Given the description of an element on the screen output the (x, y) to click on. 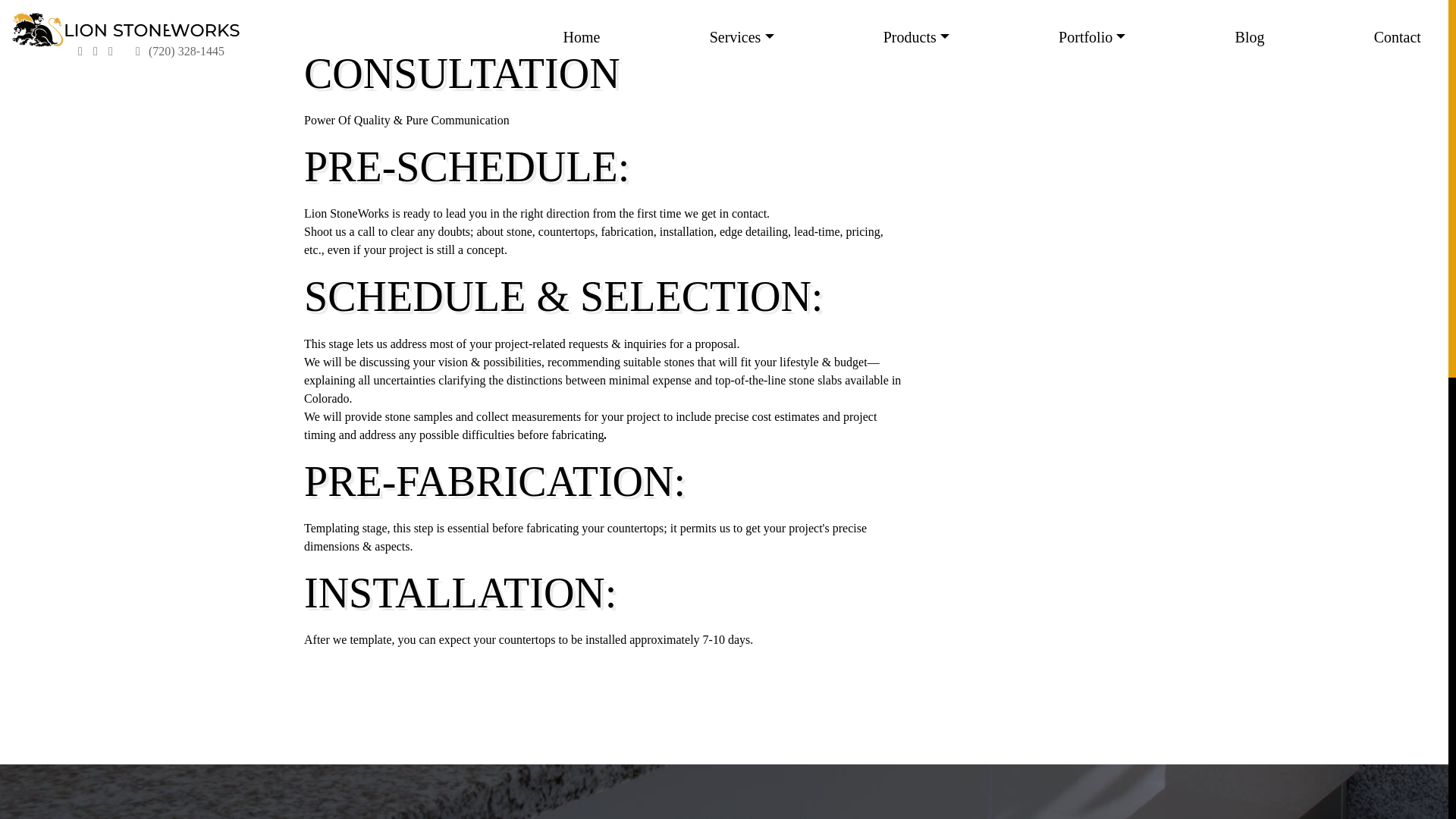
Services (741, 36)
Home (580, 36)
Portfolio (1091, 36)
Contact (1396, 36)
Products (915, 36)
Blog (1249, 36)
